Given the description of an element on the screen output the (x, y) to click on. 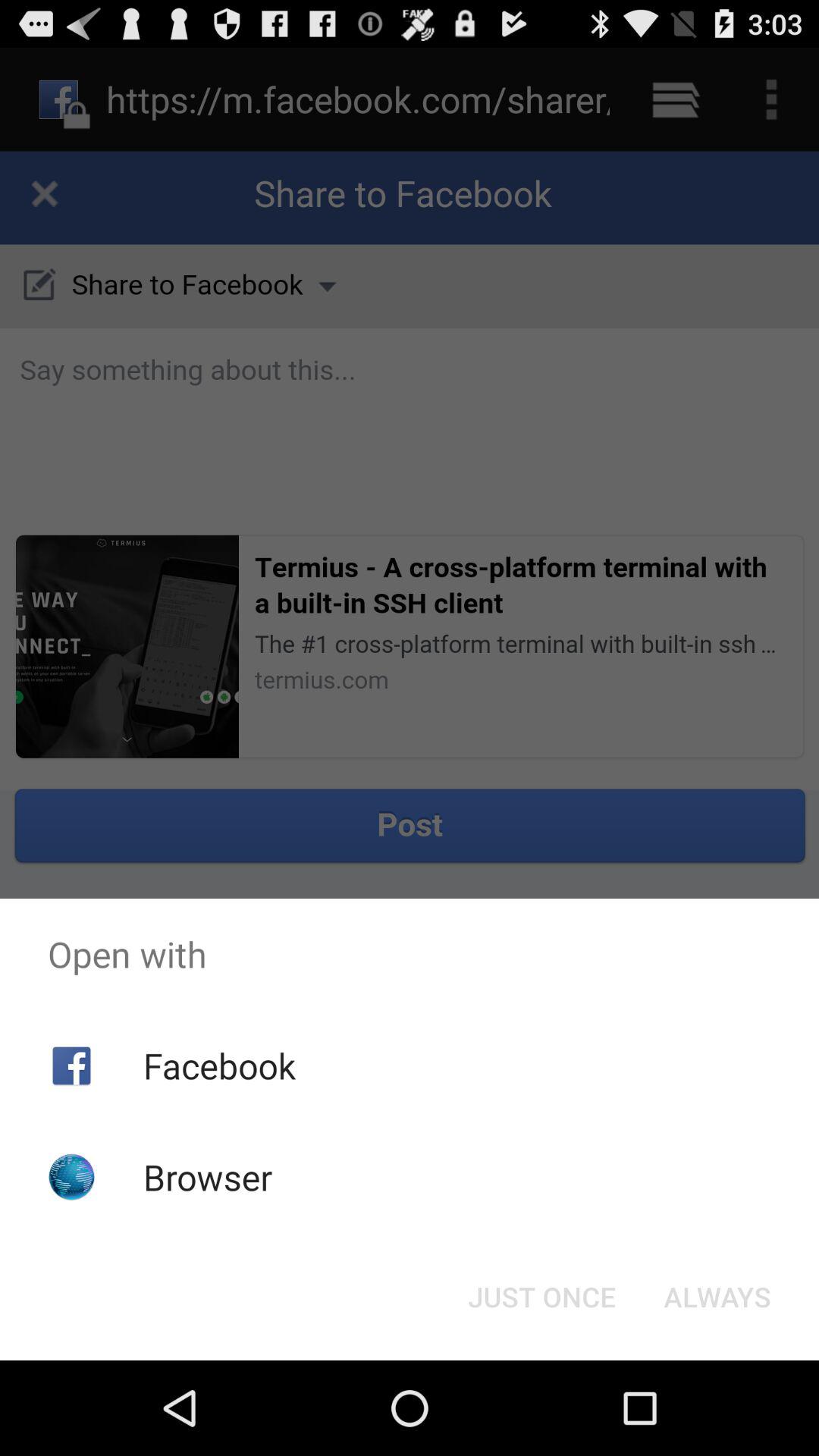
select item next to always button (541, 1296)
